Given the description of an element on the screen output the (x, y) to click on. 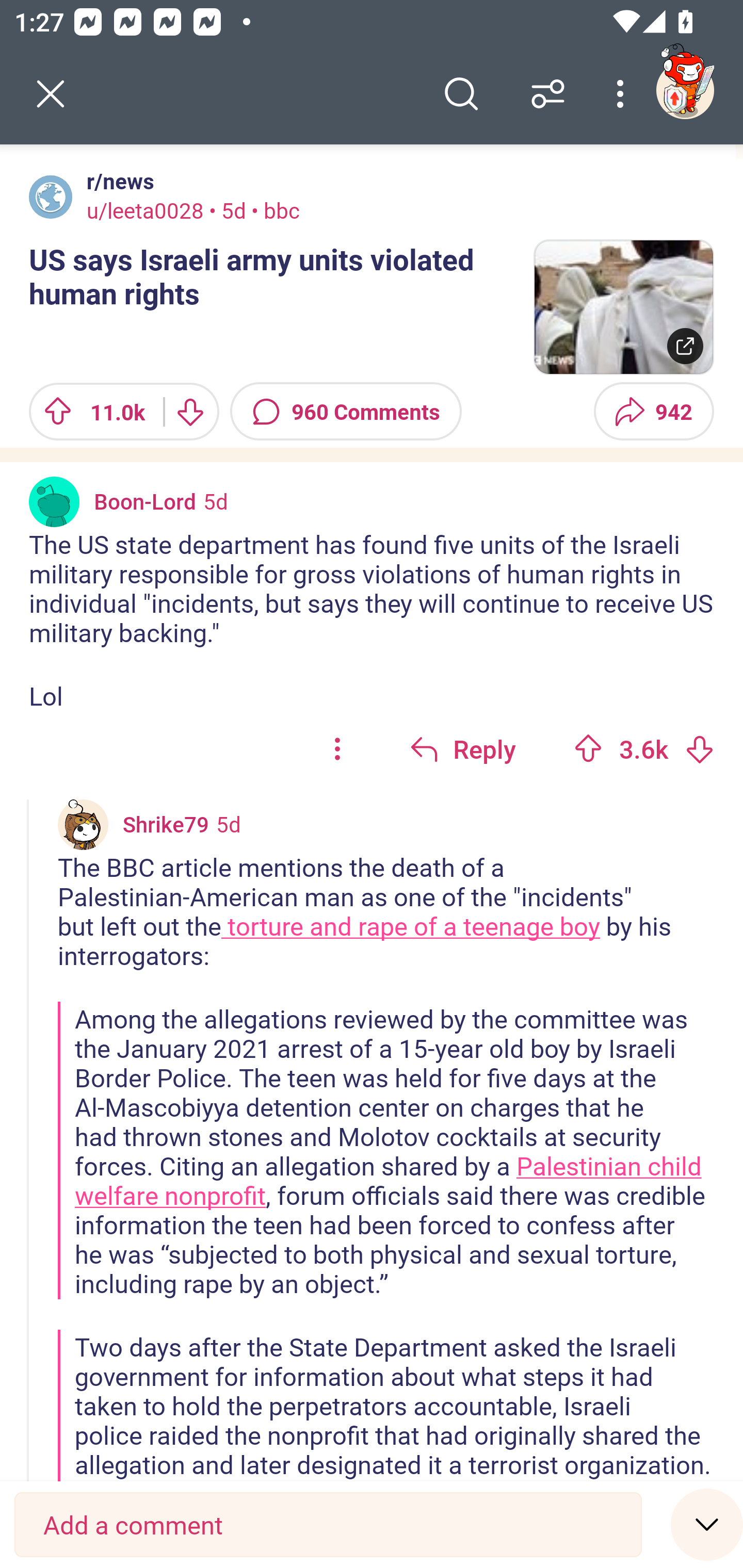
Back (50, 93)
TestAppium002 account (685, 90)
Search comments (460, 93)
Sort comments (547, 93)
More options (623, 93)
r/news (116, 181)
Avatar (50, 196)
u/leeta0028 (144, 210)
 • bbc (272, 210)
Thumbnail image (623, 306)
Upvote 11.0k (88, 411)
Downvote (189, 411)
960 Comments (346, 411)
Share 942 (653, 411)
Avatar (53, 501)
5d (215, 500)
options (337, 749)
Reply (462, 749)
Upvote 3.6k 3630 votes Downvote (643, 749)
Upvote (587, 748)
Downvote (699, 748)
Custom avatar (82, 824)
5d (228, 823)
Speed read (706, 1524)
Add a comment (327, 1524)
